Given the description of an element on the screen output the (x, y) to click on. 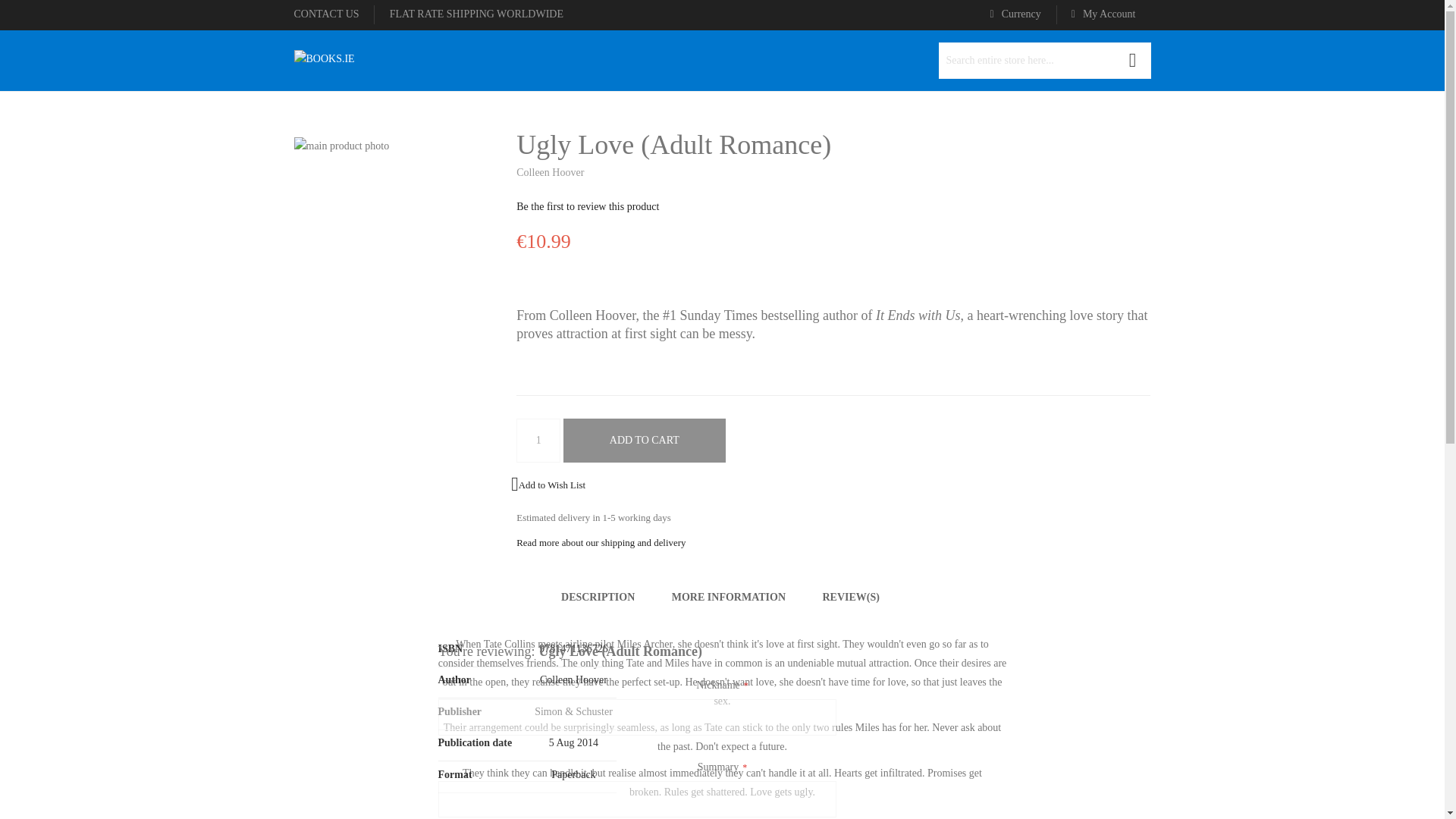
CONTACT US (326, 13)
Shipping and delivery (476, 13)
FLAT RATE SHIPPING WORLDWIDE (476, 13)
Add to Cart (644, 440)
BOOKS.IE (324, 60)
Contact us (326, 13)
1 (538, 440)
Search (1133, 60)
Qty (538, 440)
BOOKS.IE (324, 58)
